Given the description of an element on the screen output the (x, y) to click on. 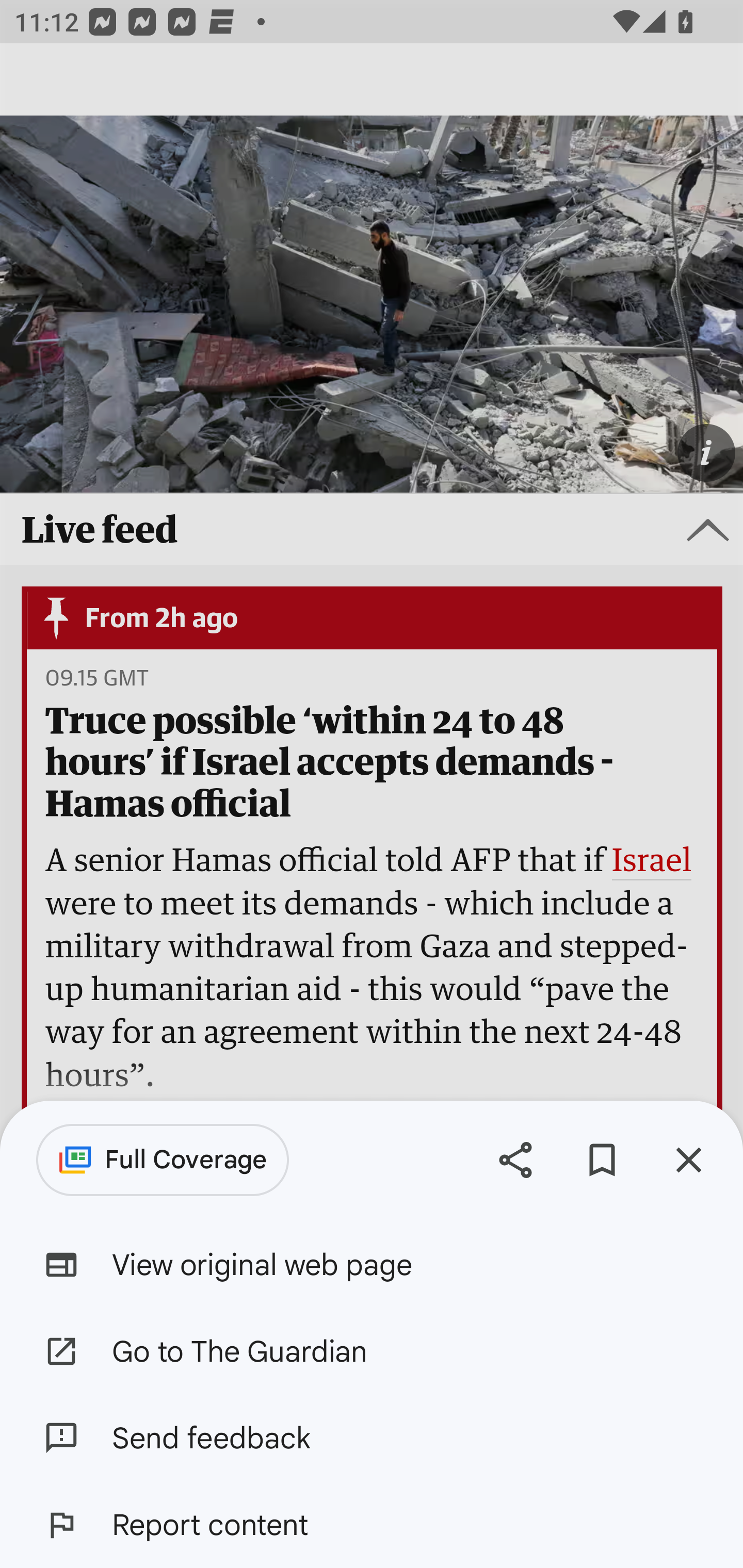
Live feed (371, 529)
09.15 GMT (96, 679)
Israel (651, 862)
Share (514, 1159)
Save for later (601, 1159)
Close (688, 1159)
Full Coverage (162, 1160)
View original web page (371, 1264)
Go to The Guardian (371, 1350)
Send feedback (371, 1437)
Report content (371, 1524)
